Given the description of an element on the screen output the (x, y) to click on. 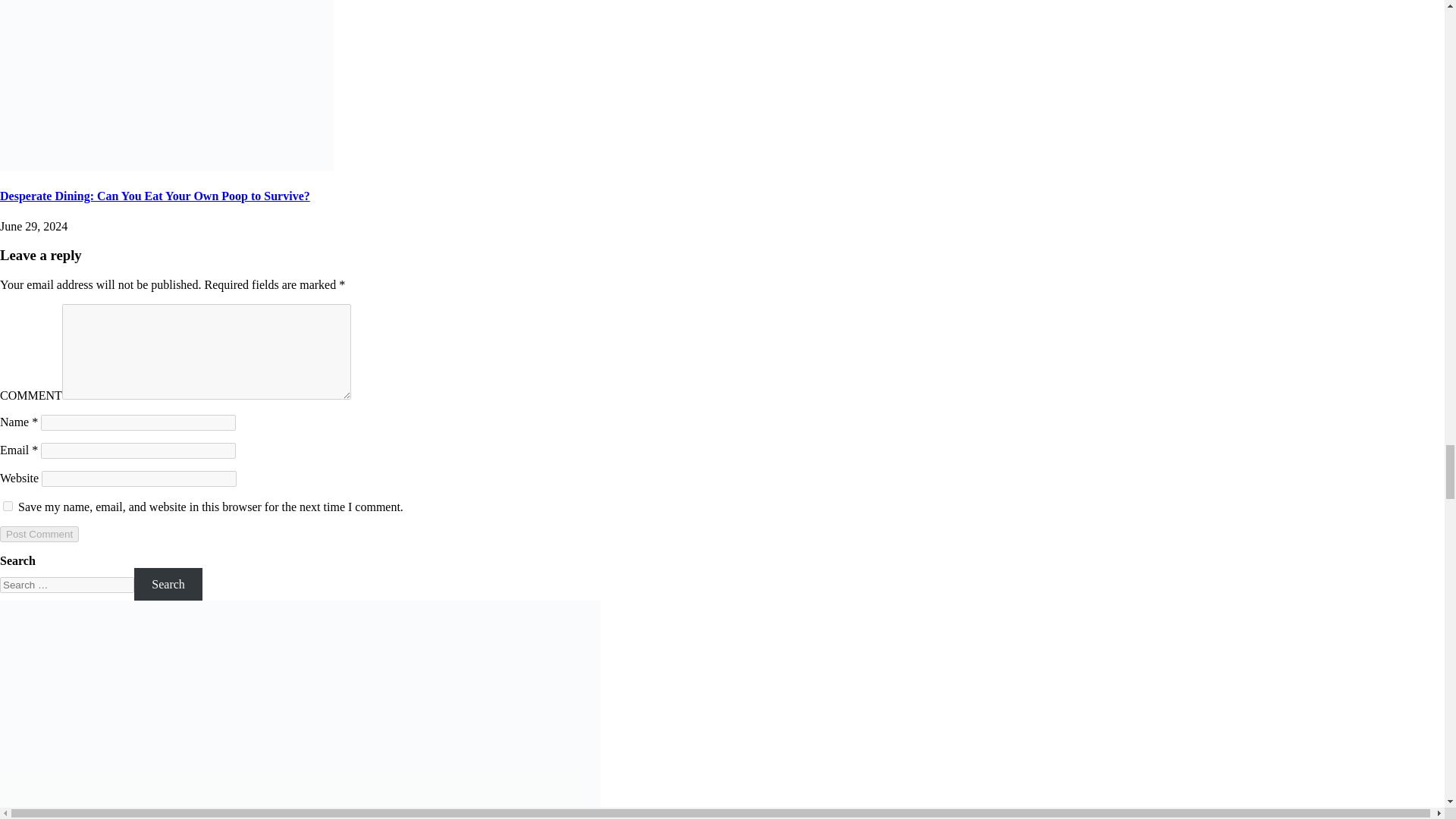
Post Comment (39, 534)
yes (7, 506)
